Given the description of an element on the screen output the (x, y) to click on. 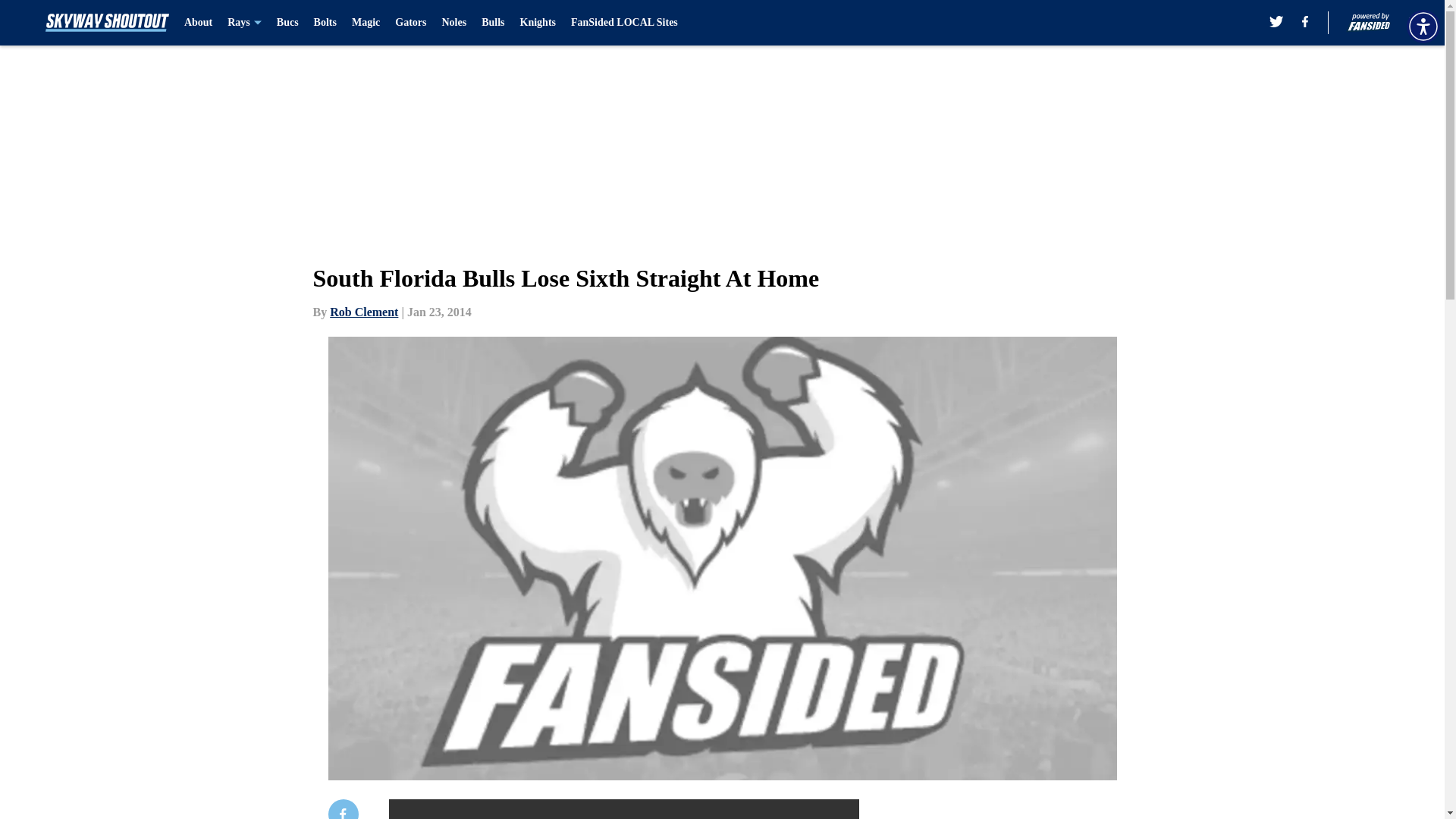
Knights (537, 22)
Bulls (492, 22)
Bucs (287, 22)
3rd party ad content (1047, 809)
Accessibility Menu (1422, 26)
Gators (410, 22)
FanSided LOCAL Sites (624, 22)
About (198, 22)
Rob Clement (363, 311)
Magic (366, 22)
Noles (453, 22)
Bolts (325, 22)
